Given the description of an element on the screen output the (x, y) to click on. 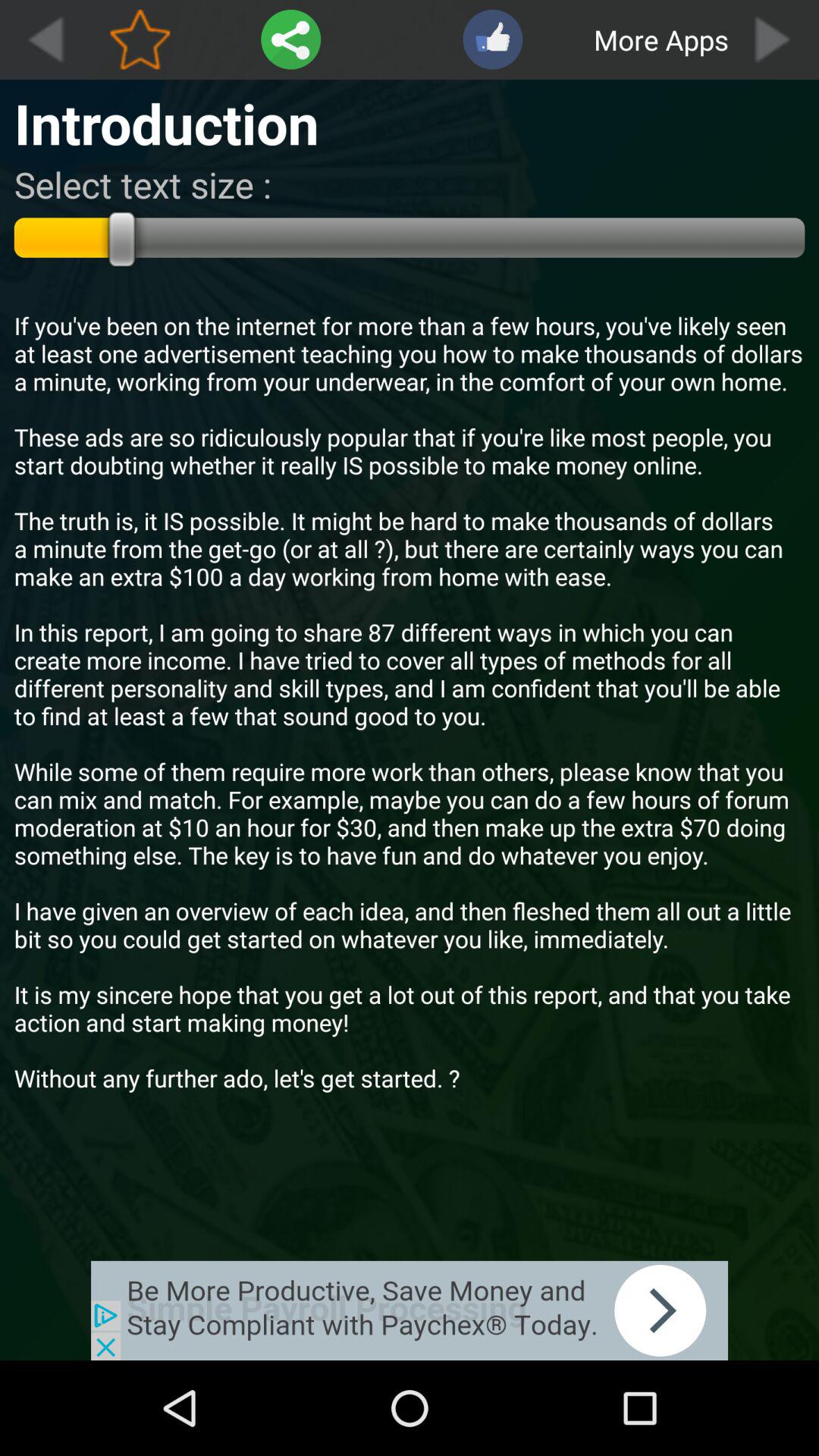
share (290, 39)
